Given the description of an element on the screen output the (x, y) to click on. 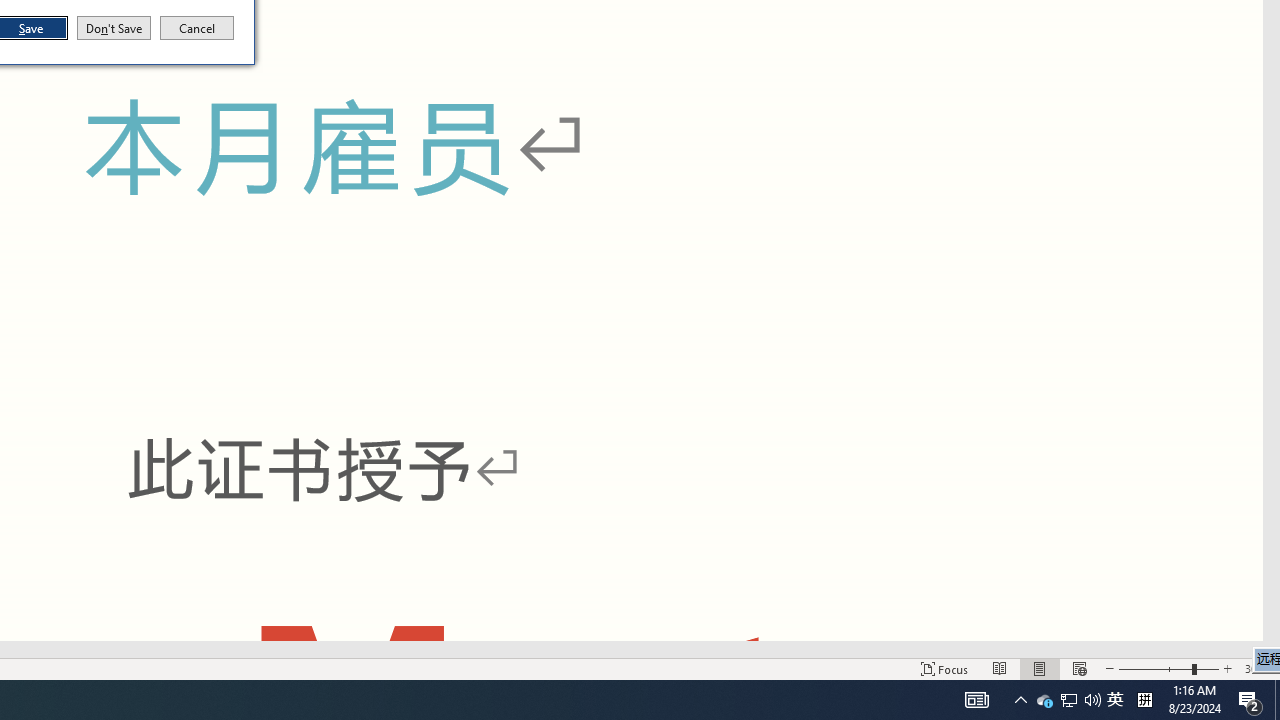
Cancel (197, 27)
Q2790: 100% (1092, 699)
User Promoted Notification Area (1068, 699)
Zoom 308% (1258, 668)
Show desktop (1277, 699)
Tray Input Indicator - Chinese (Simplified, China) (1144, 699)
Zoom (1069, 699)
Don't Save (1115, 699)
AutomationID: 4105 (1168, 668)
